Given the description of an element on the screen output the (x, y) to click on. 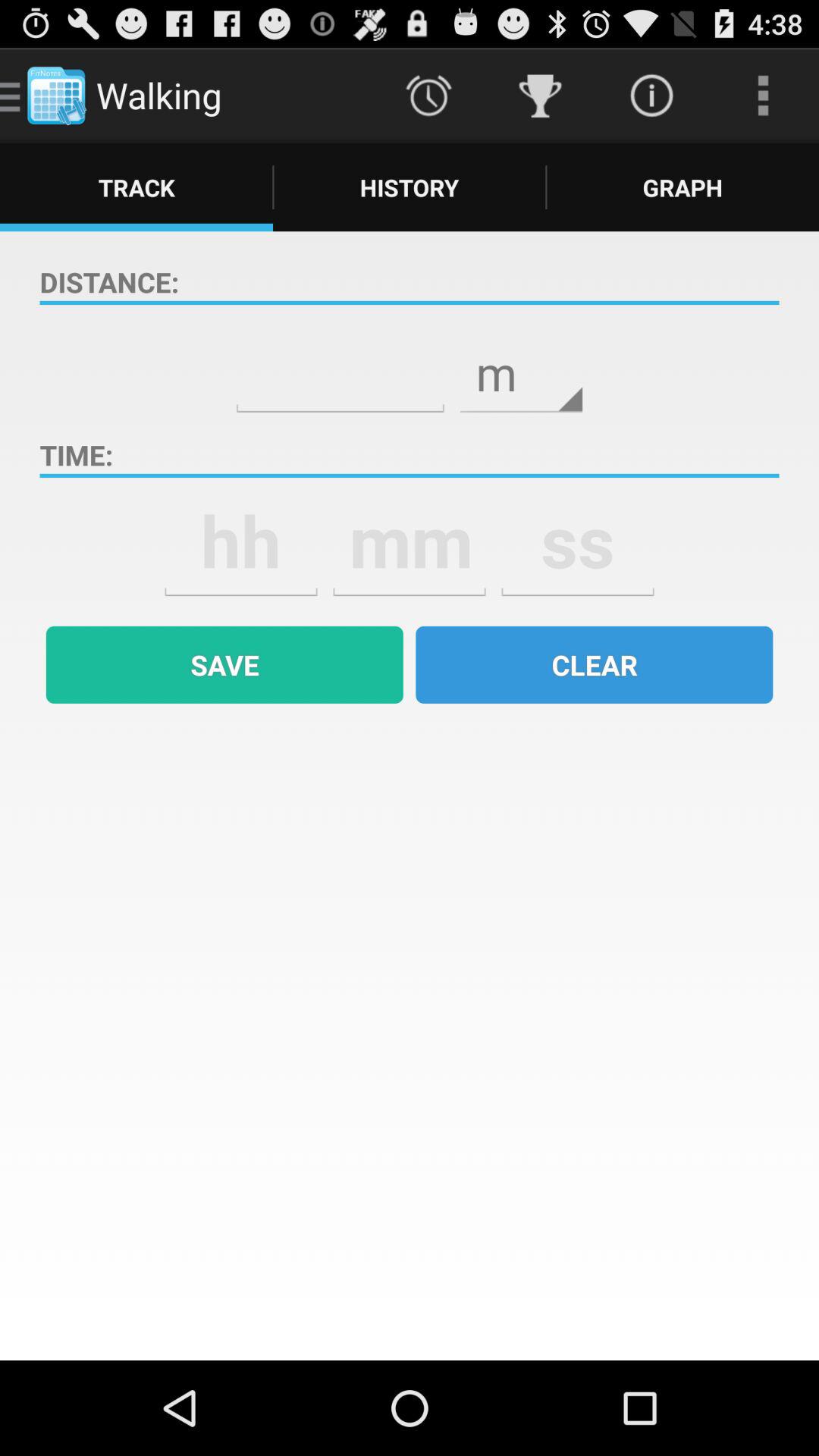
type in number (340, 362)
